Given the description of an element on the screen output the (x, y) to click on. 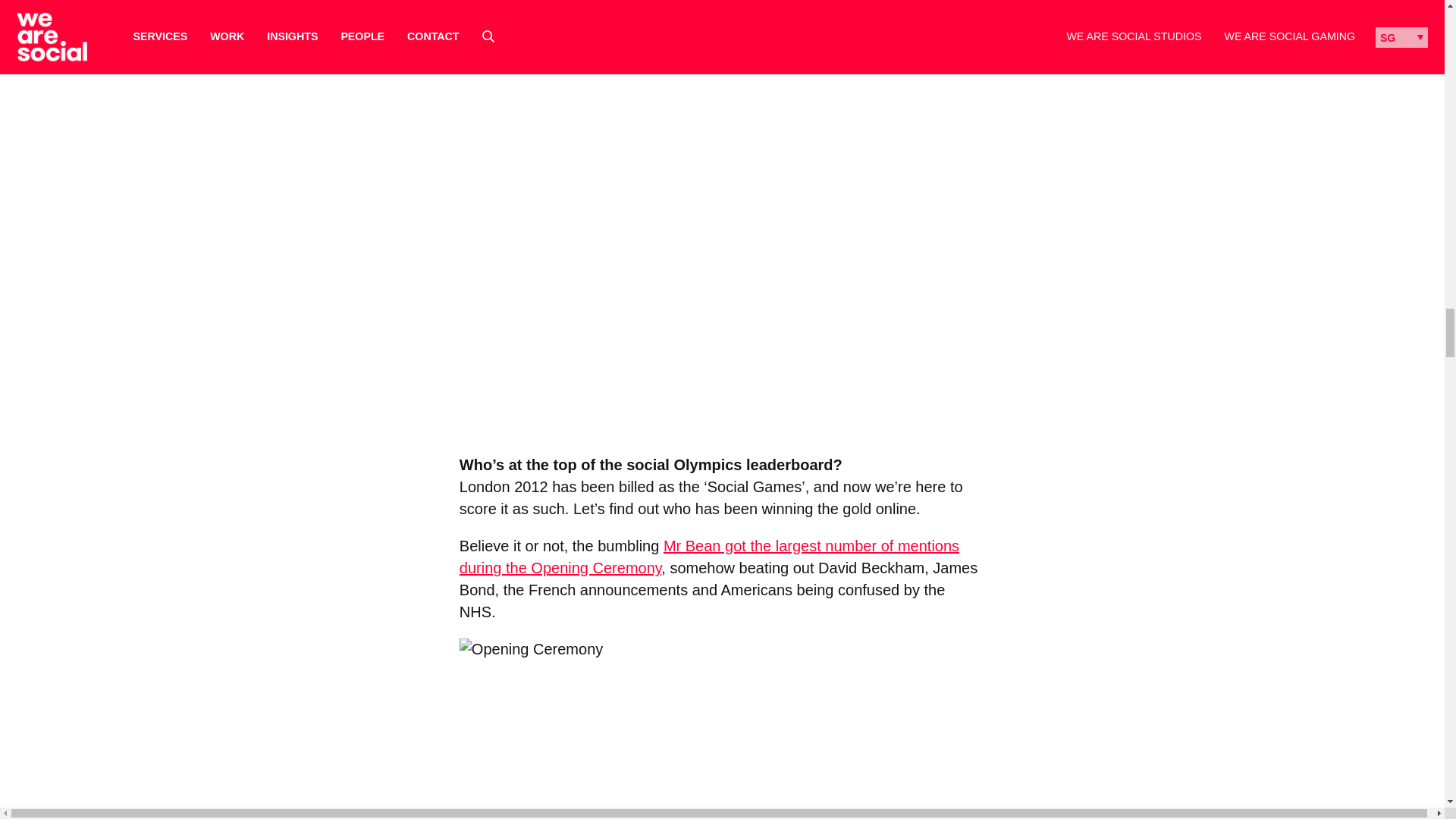
Opening Ceremony (722, 728)
